Given the description of an element on the screen output the (x, y) to click on. 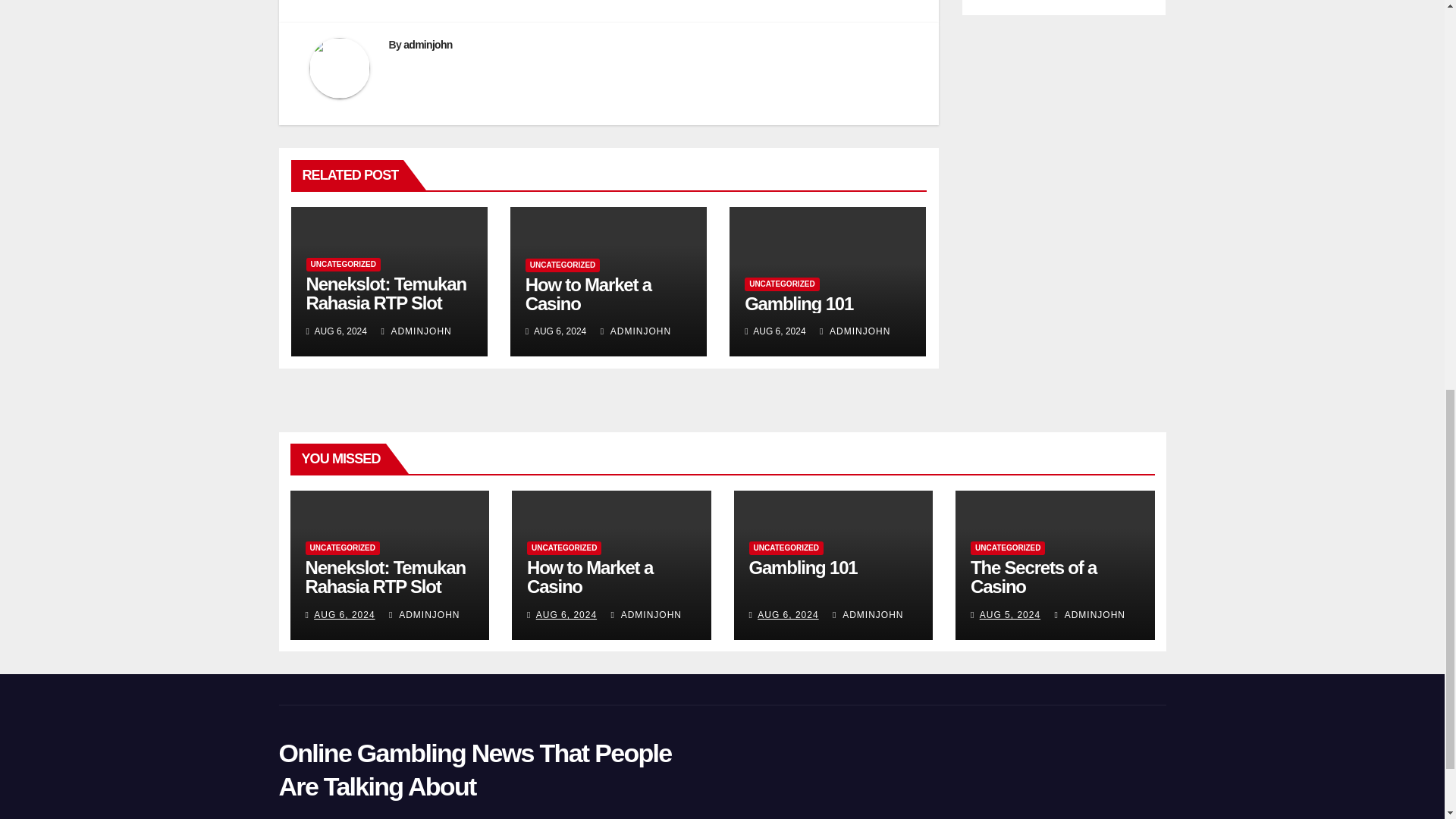
Permalink to: Gambling 101 (803, 567)
UNCATEGORIZED (781, 284)
Permalink to: Gambling 101 (798, 303)
Permalink to: How to Market a Casino (589, 577)
Permalink to: How to Market a Casino (587, 293)
adminjohn (427, 44)
ADMINJOHN (415, 330)
Gambling 101 (798, 303)
Permalink to: The Secrets of a Casino (1033, 577)
How to Market a Casino (587, 293)
ADMINJOHN (635, 330)
UNCATEGORIZED (342, 264)
ADMINJOHN (854, 330)
